Given the description of an element on the screen output the (x, y) to click on. 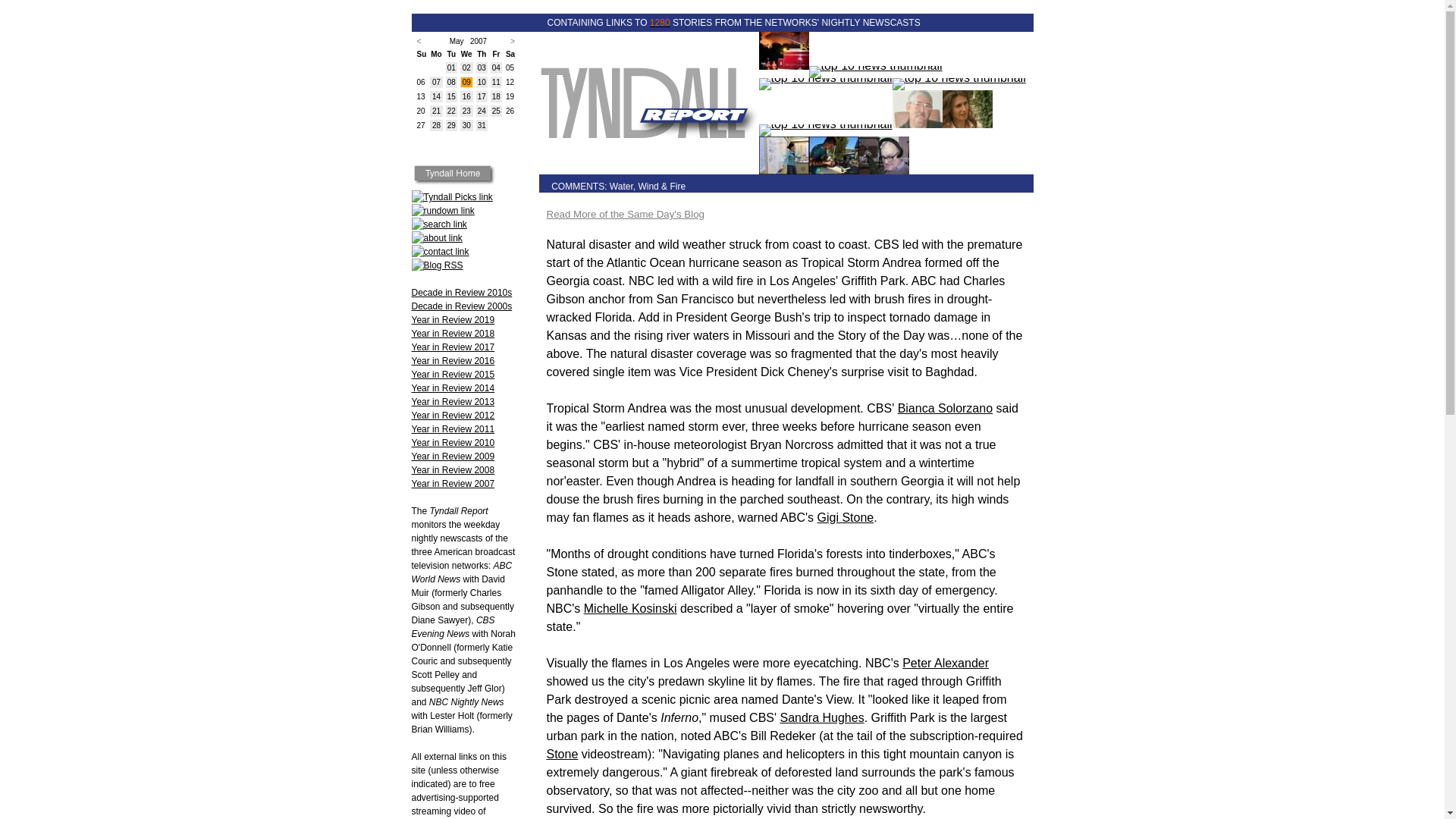
16 (466, 96)
Peter Alexander (945, 662)
Sandra Hughes (820, 717)
18 (496, 96)
Michelle Kosinski (630, 608)
07 (436, 81)
03 (481, 67)
04 (496, 67)
11 (496, 81)
22 (450, 111)
